Given the description of an element on the screen output the (x, y) to click on. 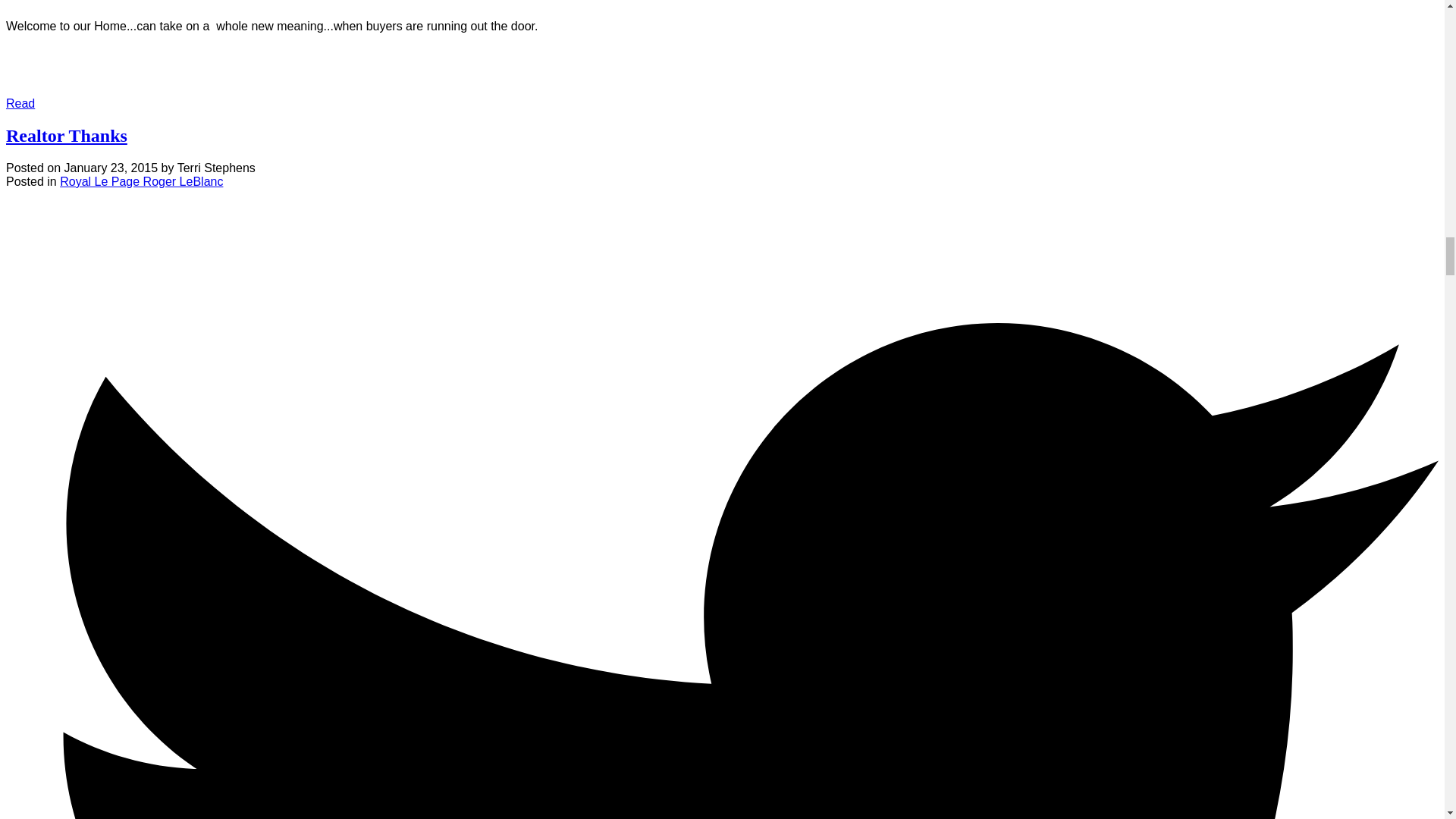
Realtor Thanks (66, 135)
Royal Le Page Roger LeBlanc (140, 181)
Read (19, 103)
